Given the description of an element on the screen output the (x, y) to click on. 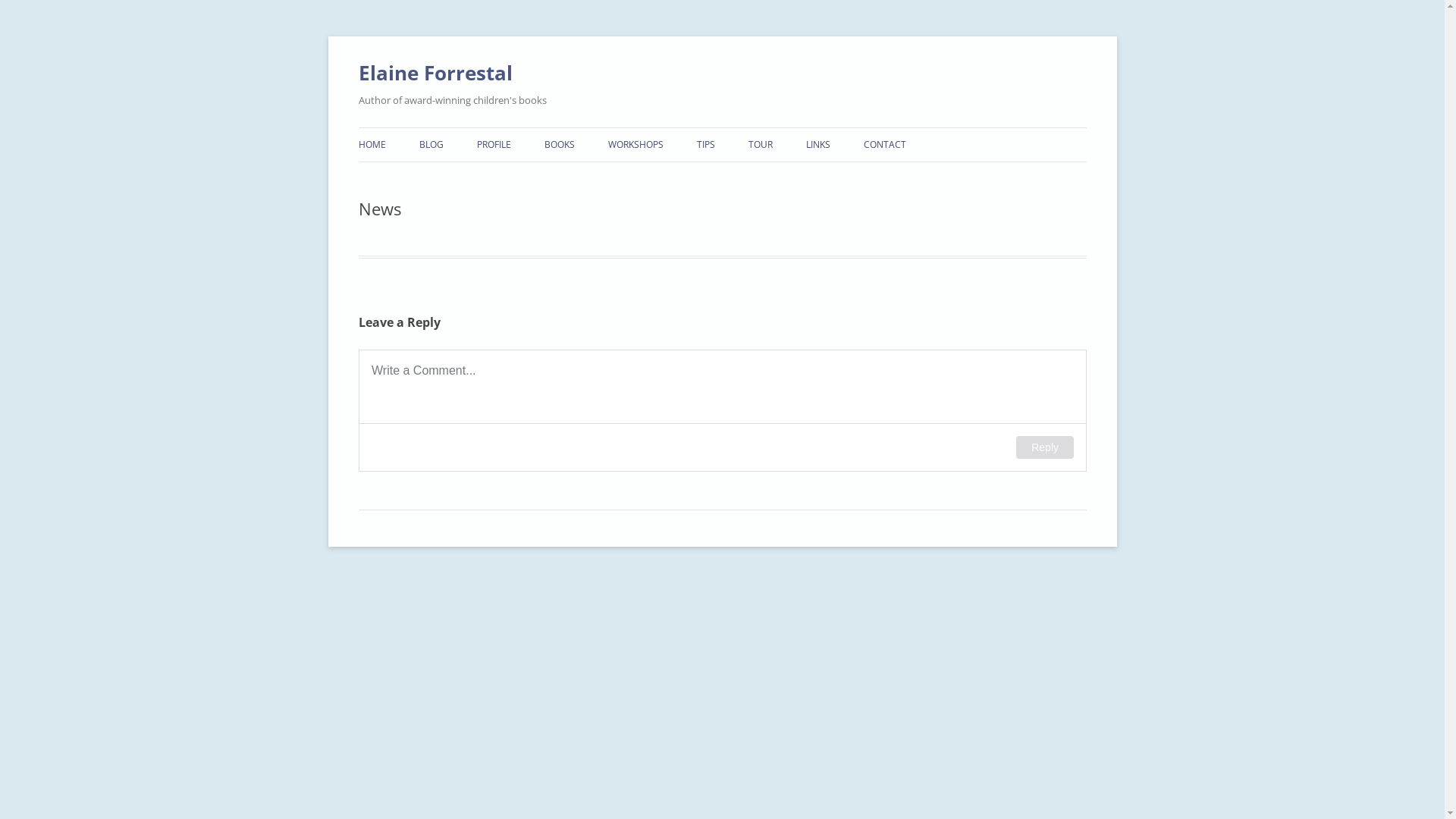
Elaine Forrestal Element type: text (434, 72)
BOOKS Element type: text (559, 144)
BLOG Element type: text (430, 144)
Skip to content Element type: text (721, 127)
HOME Element type: text (371, 144)
TIPS Element type: text (705, 144)
LINKS Element type: text (817, 144)
WORKSHOPS Element type: text (635, 144)
Comment Form Element type: hover (721, 410)
TOUR Element type: text (759, 144)
CONTACT Element type: text (883, 144)
PROFILE Element type: text (493, 144)
